Given the description of an element on the screen output the (x, y) to click on. 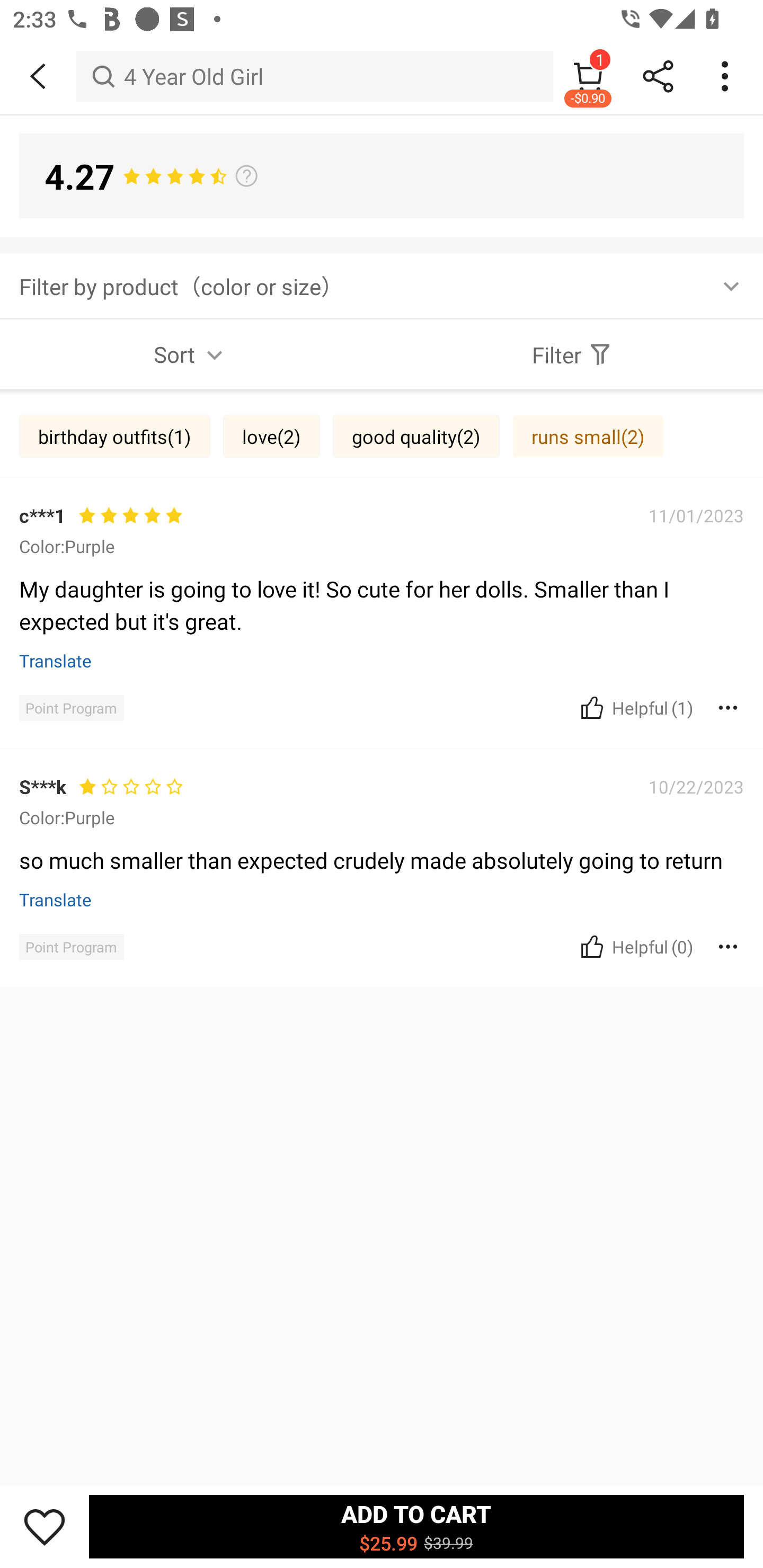
PHOTOS Marketplace 2 / 6 (381, 419)
BACK (38, 75)
1 -$0.90 (588, 75)
4 Year Old Girl (314, 75)
Filter by product（color or size） (381, 285)
Sort (190, 353)
Filter (572, 353)
birthday outfits(1) (114, 436)
love(2) (270, 436)
good quality(2) (415, 436)
runs small(2) (587, 436)
Translate (55, 660)
Cancel Helpful Was this article helpful? (1) (634, 707)
Point Program (71, 707)
$25.99 $39.99 -35% (381, 830)
Translate (55, 899)
Cancel Helpful Was this article helpful? (0) (634, 946)
Point Program (71, 946)
ADD TO CART $25.99 $39.99 (416, 1526)
Save (44, 1526)
